Given the description of an element on the screen output the (x, y) to click on. 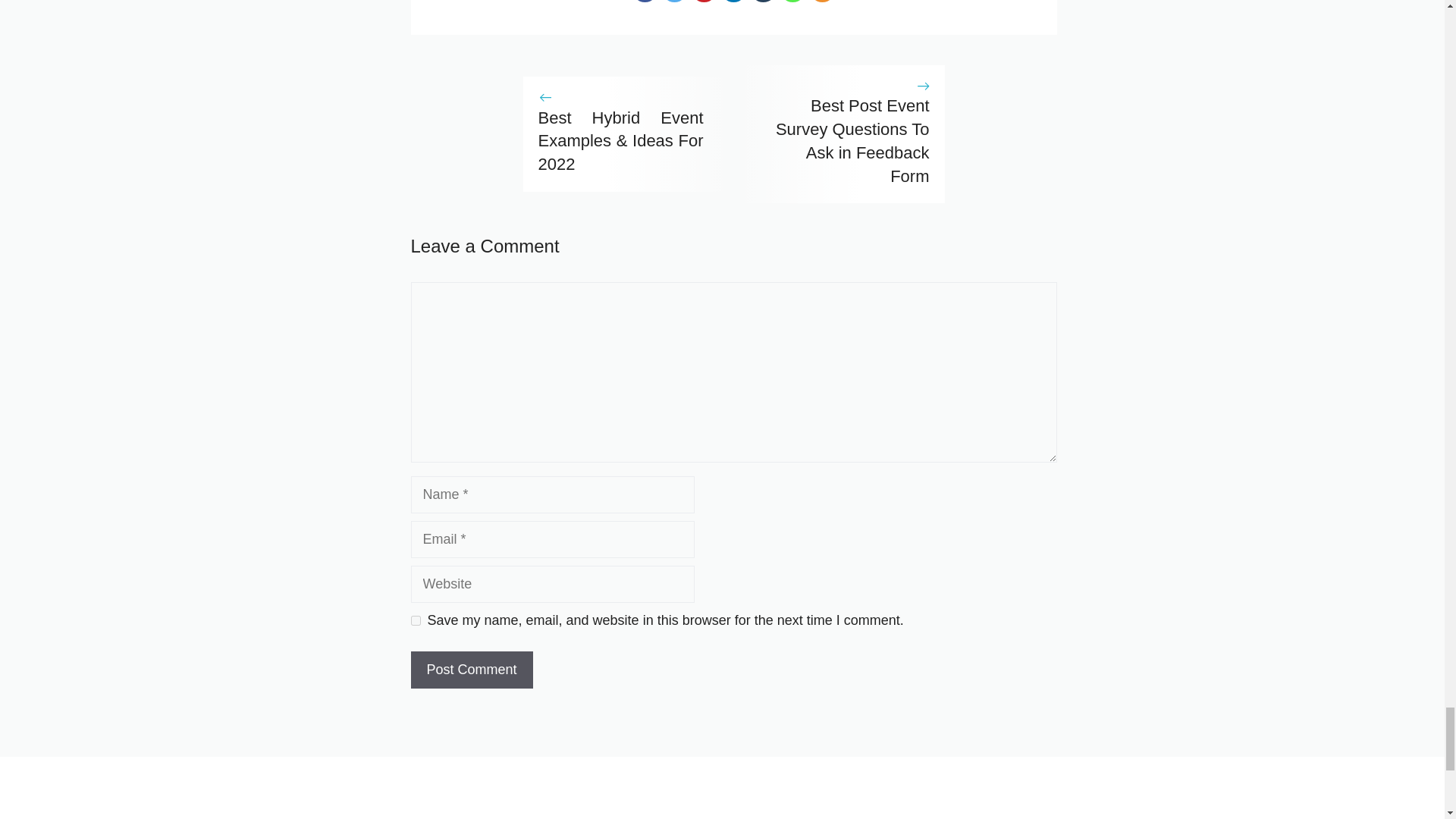
Facebook (644, 1)
yes (415, 620)
Twitter (674, 1)
Post Comment (471, 669)
